Given the description of an element on the screen output the (x, y) to click on. 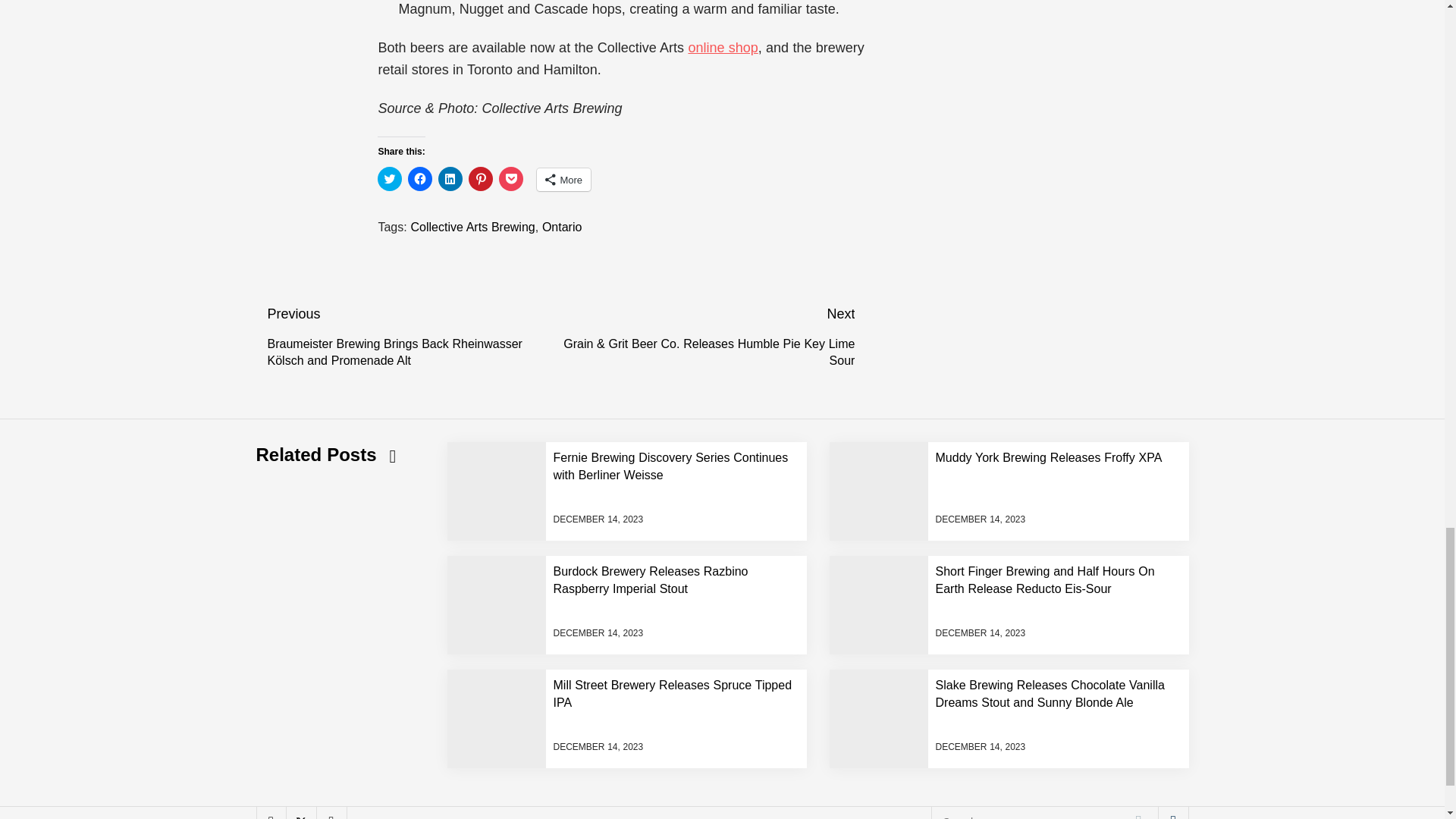
More (564, 179)
online shop (722, 47)
Click to share on Pinterest (480, 178)
Click to share on Pocket (510, 178)
Search (1138, 812)
Ontario (560, 226)
Search (1138, 812)
Click to share on Facebook (419, 178)
Click to share on LinkedIn (450, 178)
Click to share on Twitter (389, 178)
Collective Arts Brewing (472, 226)
